Given the description of an element on the screen output the (x, y) to click on. 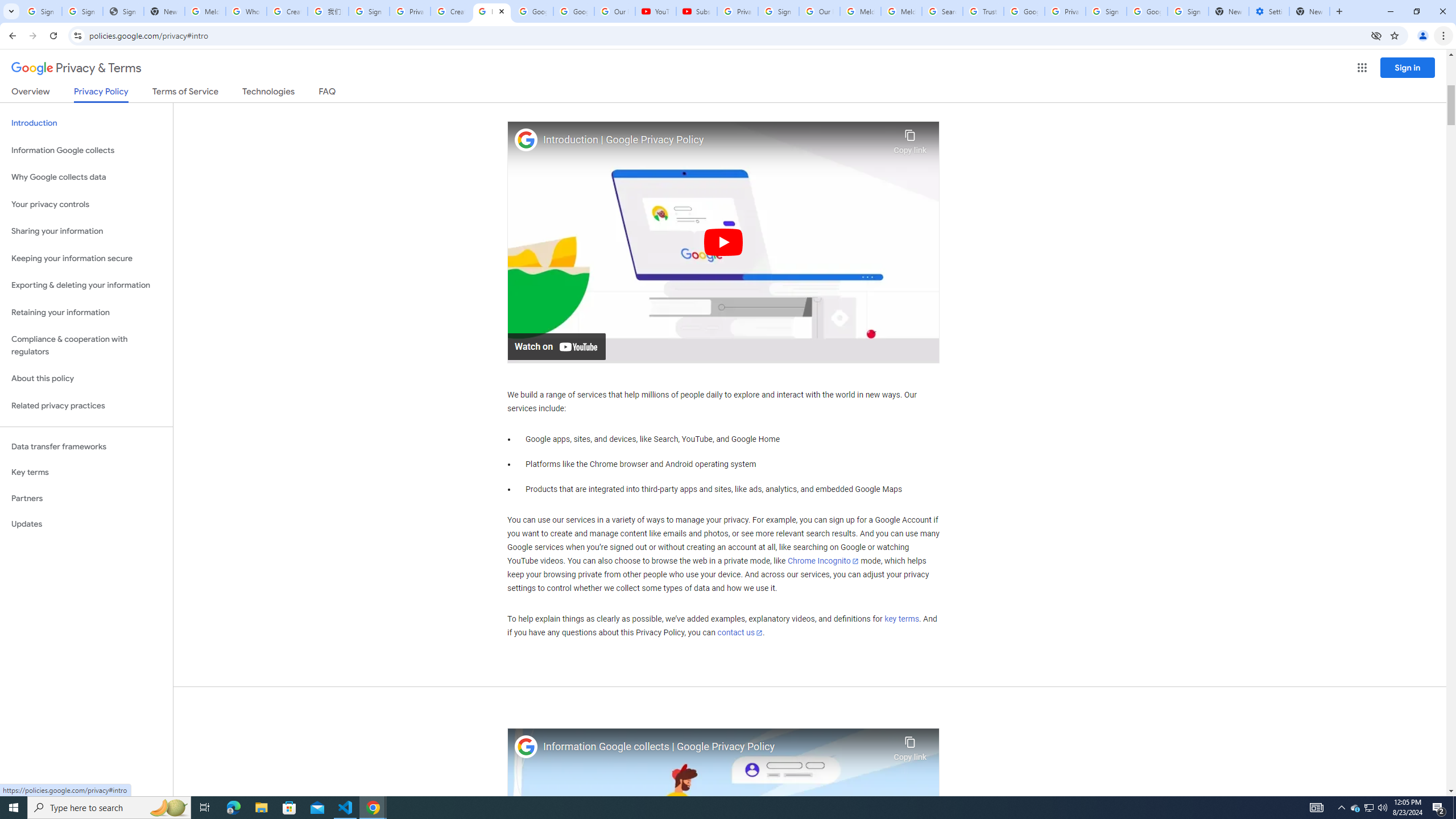
Sharing your information (86, 230)
Sign in - Google Accounts (368, 11)
Watch on YouTube (556, 346)
About this policy (86, 379)
Information Google collects | Google Privacy Policy (715, 747)
Trusted Information and Content - Google Safety Center (983, 11)
Subscriptions - YouTube (696, 11)
